Given the description of an element on the screen output the (x, y) to click on. 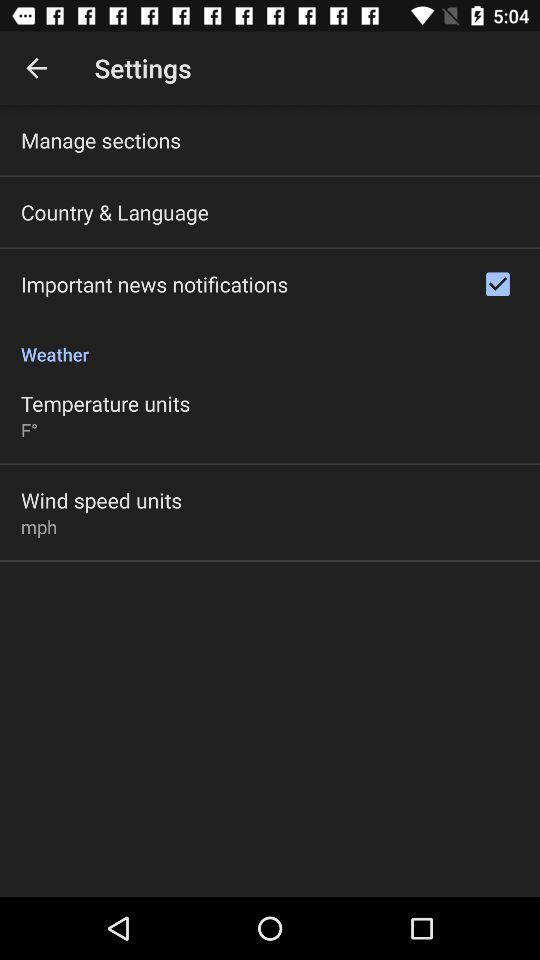
jump to the mph icon (39, 526)
